Given the description of an element on the screen output the (x, y) to click on. 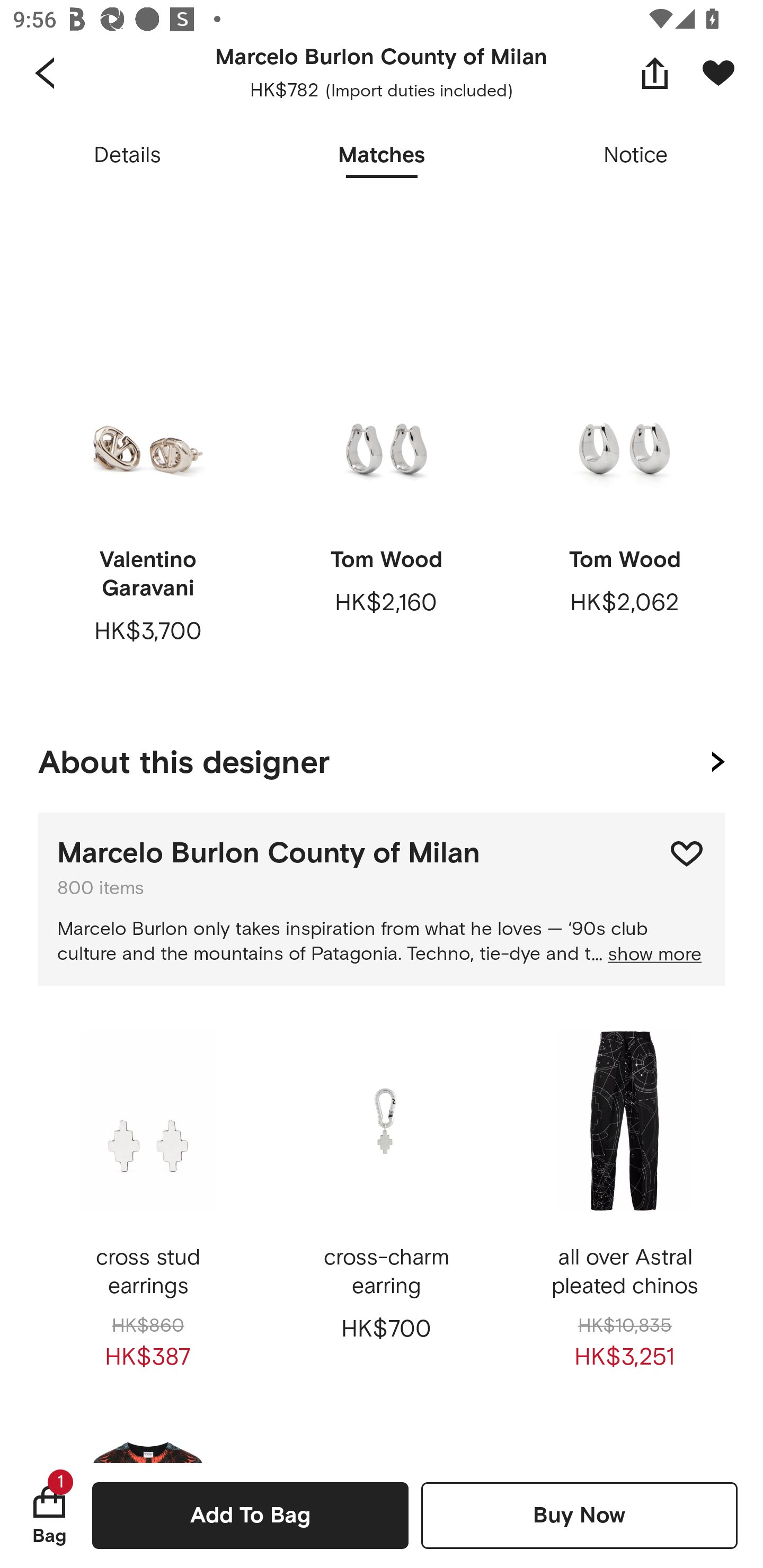
Details (127, 155)
Notice (635, 155)
Valentino Garavani HK$3,700 (147, 508)
Tom Wood HK$2,160 (385, 508)
Tom Wood HK$2,062 (624, 508)
About this designer (381, 758)
... show more (646, 954)
cross stud earrings HK$860 HK$387 (147, 1206)
cross-charm earring HK$700 (385, 1206)
all over Astral pleated chinos HK$10,835 HK$3,251 (624, 1206)
Bag 1 (49, 1515)
Add To Bag (250, 1515)
Buy Now (579, 1515)
